Given the description of an element on the screen output the (x, y) to click on. 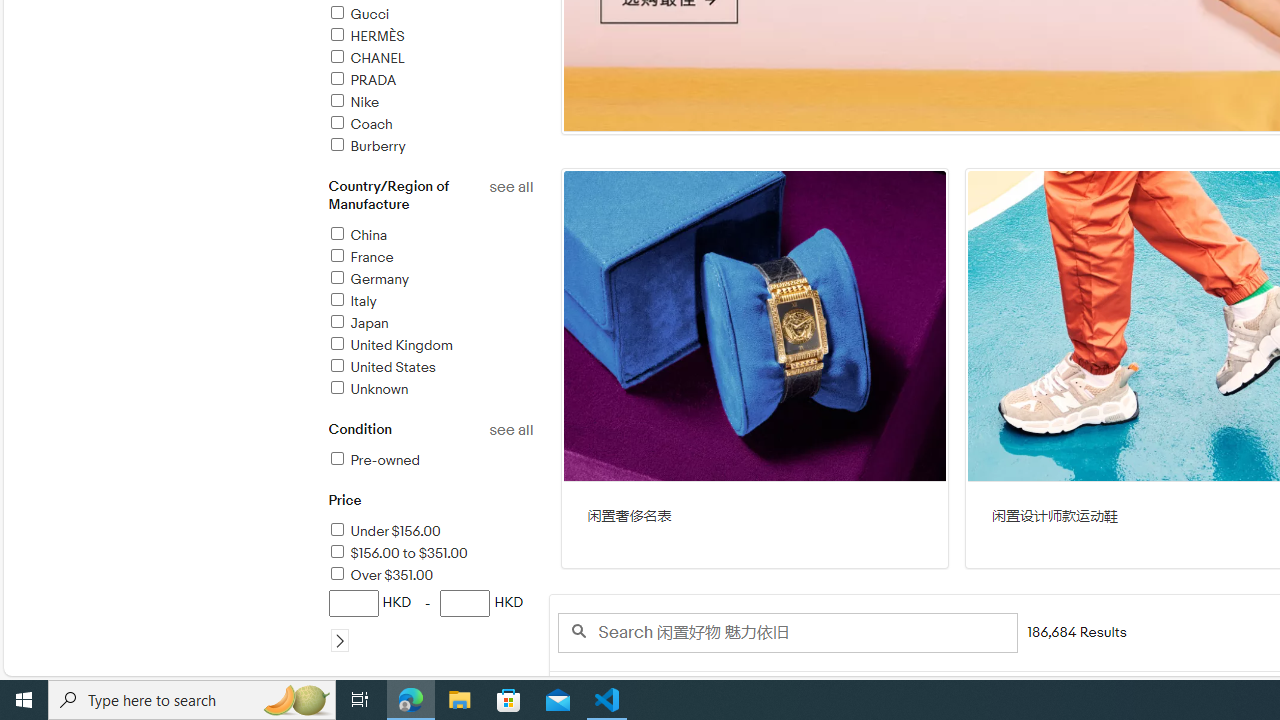
PRADA (430, 81)
See all country/region of manufacture refinements (510, 187)
China (356, 235)
Burberry (365, 146)
Italy (430, 302)
France (430, 258)
